Given the description of an element on the screen output the (x, y) to click on. 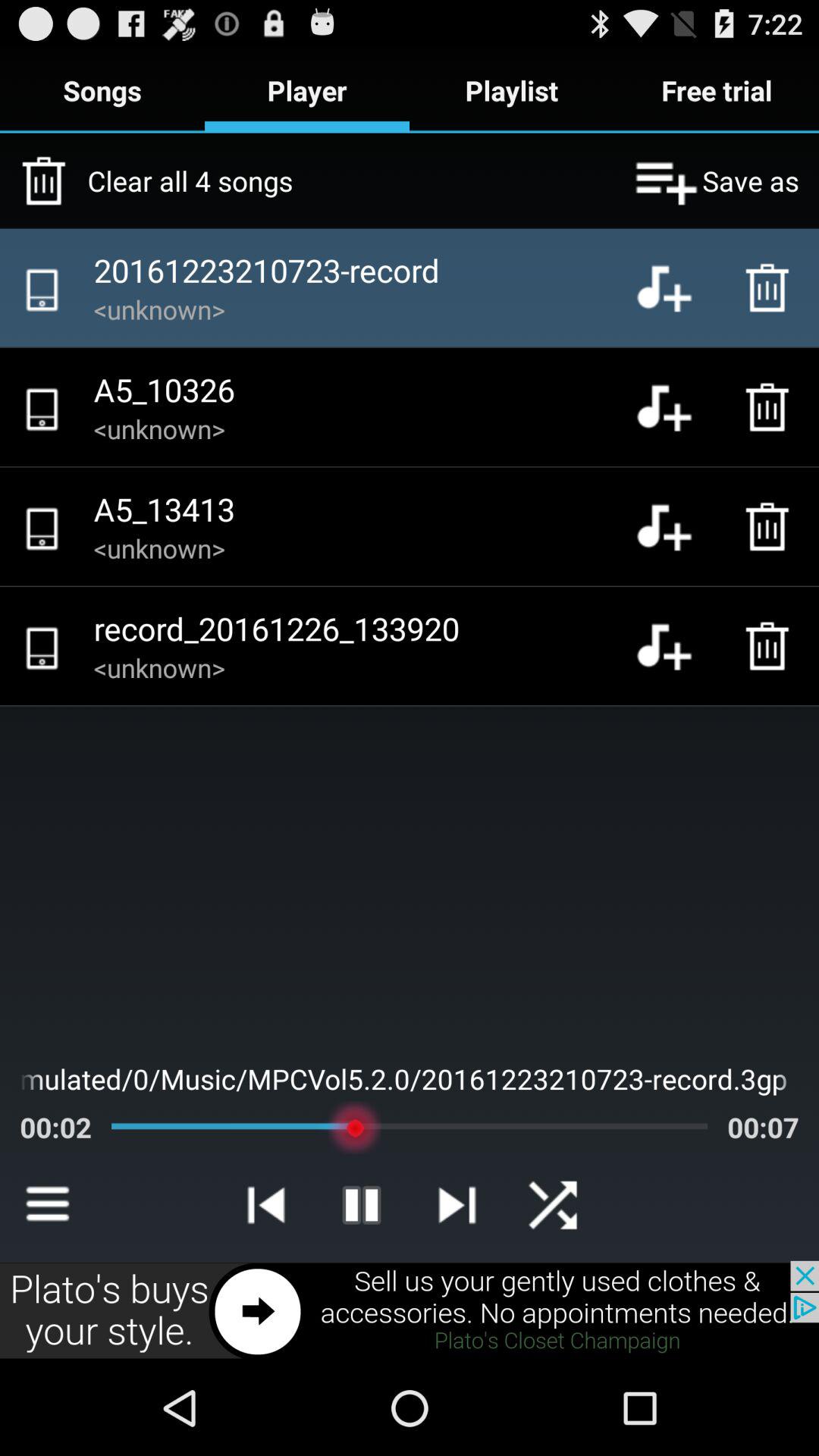
play song (675, 645)
